Given the description of an element on the screen output the (x, y) to click on. 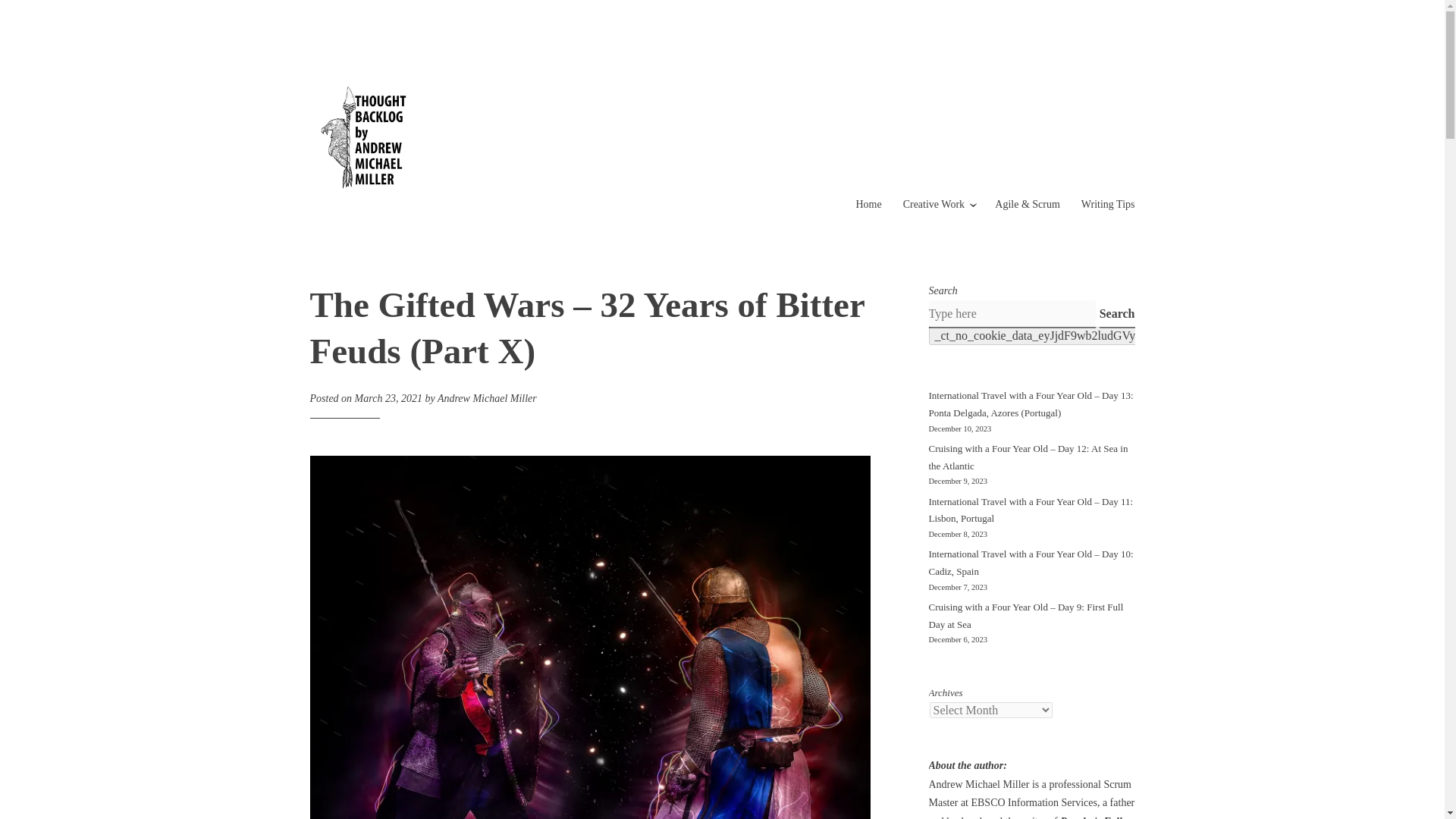
March 23, 2021 (388, 398)
Andrew Michael Miller's Thought Backlog (509, 229)
Writing Tips (1108, 204)
Home (868, 204)
Creative Work (932, 204)
Andrew Michael Miller (487, 398)
